Given the description of an element on the screen output the (x, y) to click on. 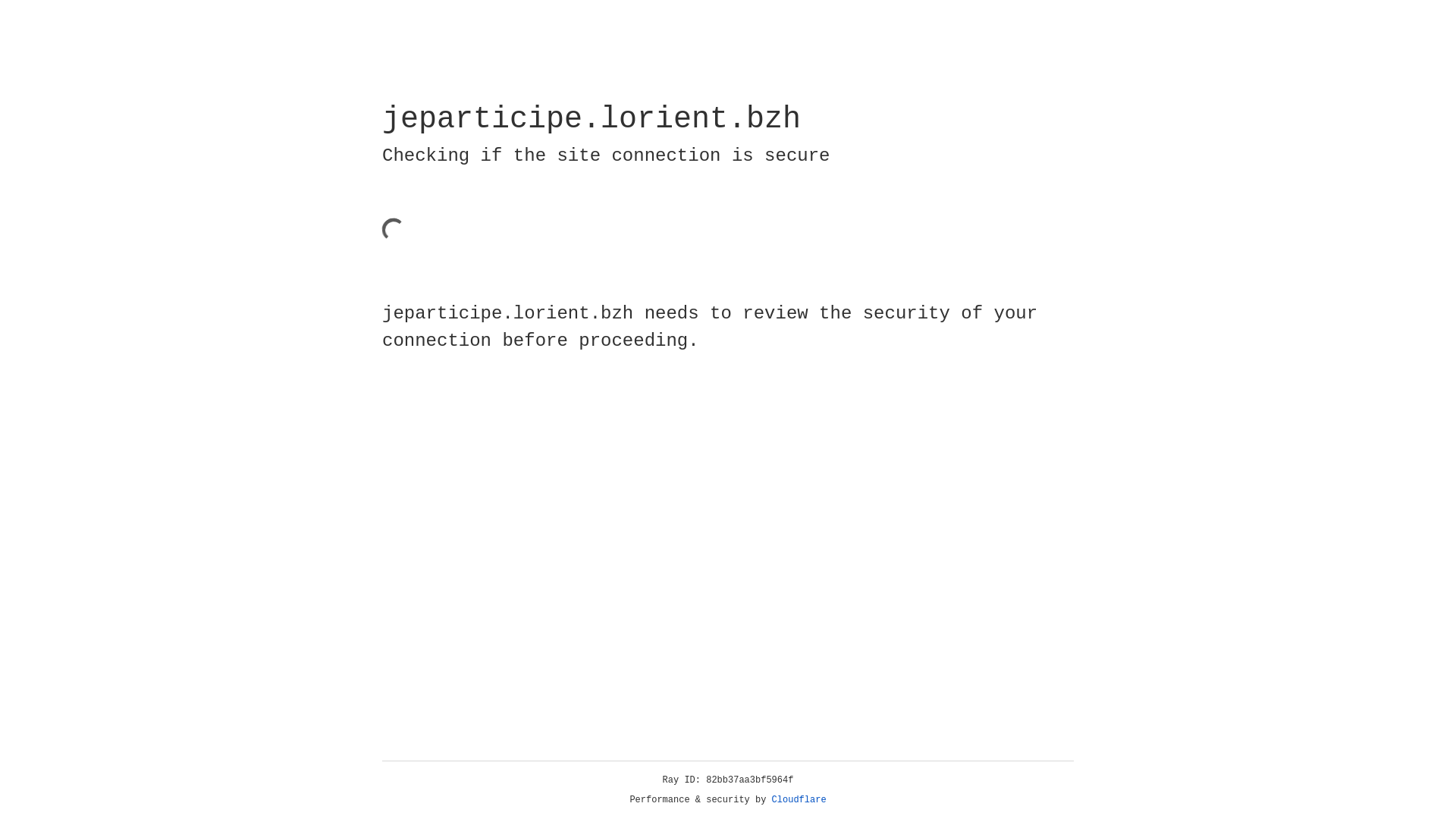
Cloudflare Element type: text (798, 799)
